Given the description of an element on the screen output the (x, y) to click on. 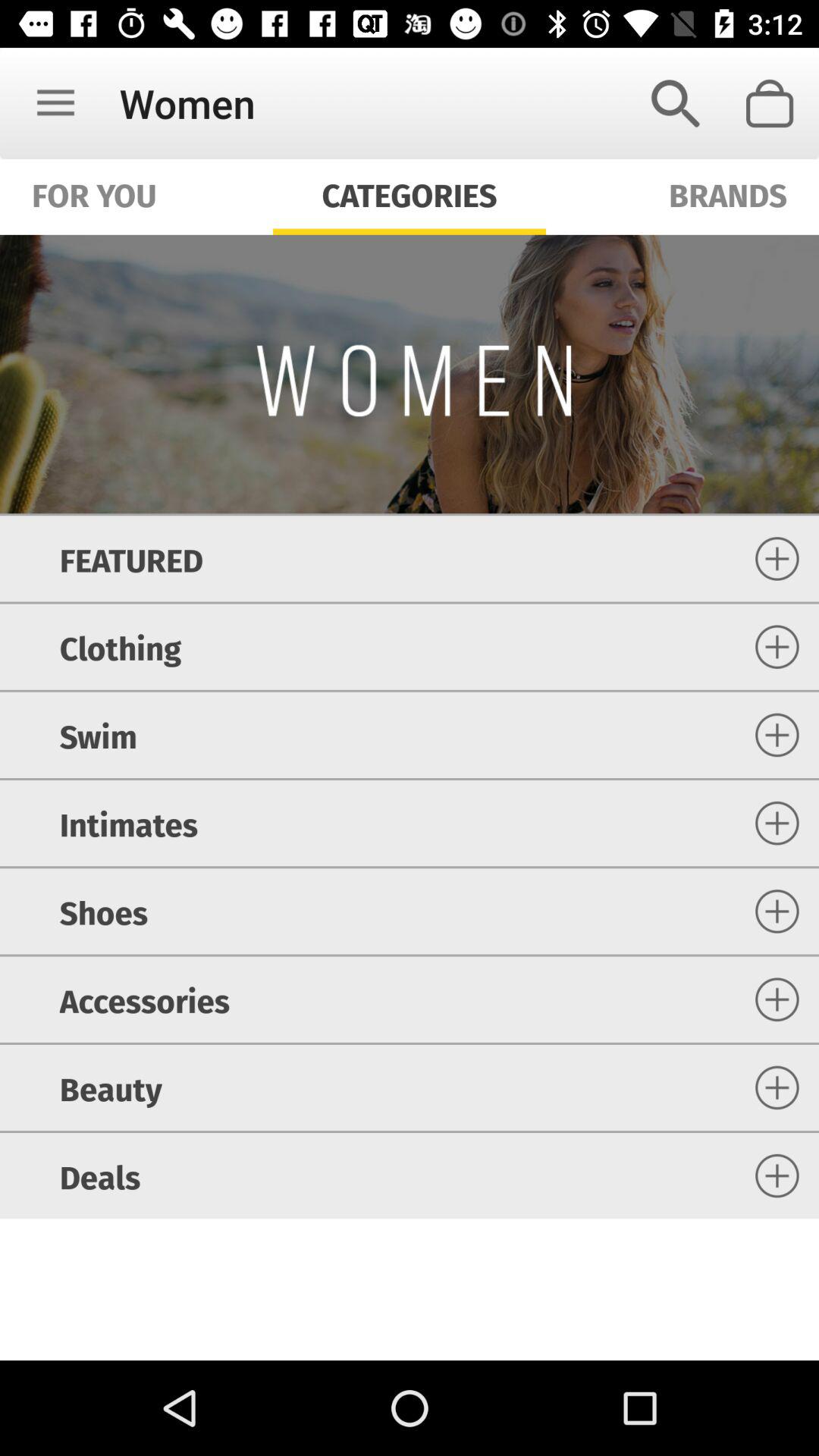
choose the deals item (99, 1175)
